Given the description of an element on the screen output the (x, y) to click on. 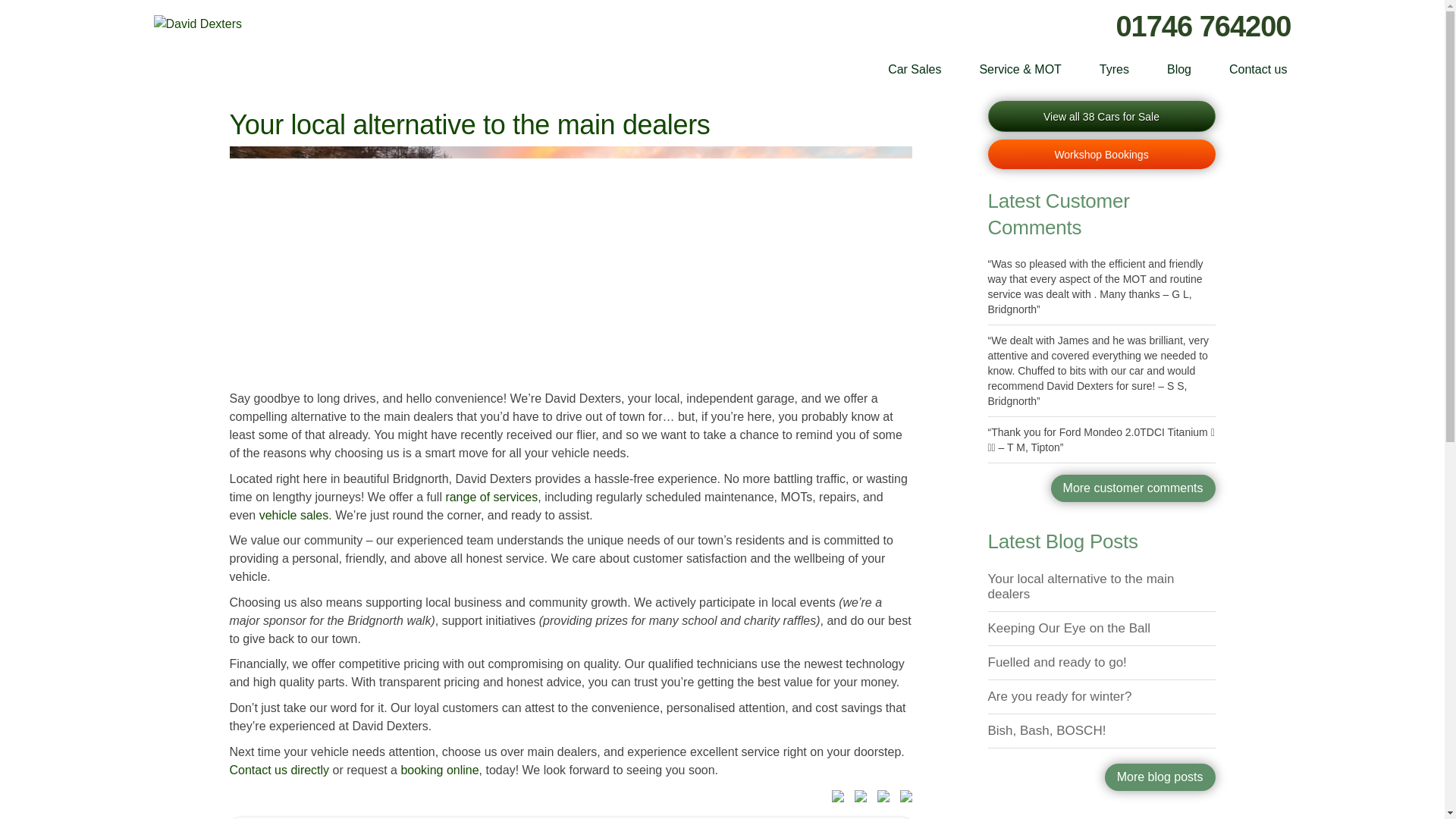
range of services (491, 496)
Contact us (1257, 69)
Tyres (1114, 69)
vehicle sales (294, 514)
booking online (439, 769)
Share on Linkedin (879, 799)
Blog (1178, 69)
Your local alternative to the main dealers (469, 124)
Call us now (1202, 26)
Contact us directly (278, 769)
